Given the description of an element on the screen output the (x, y) to click on. 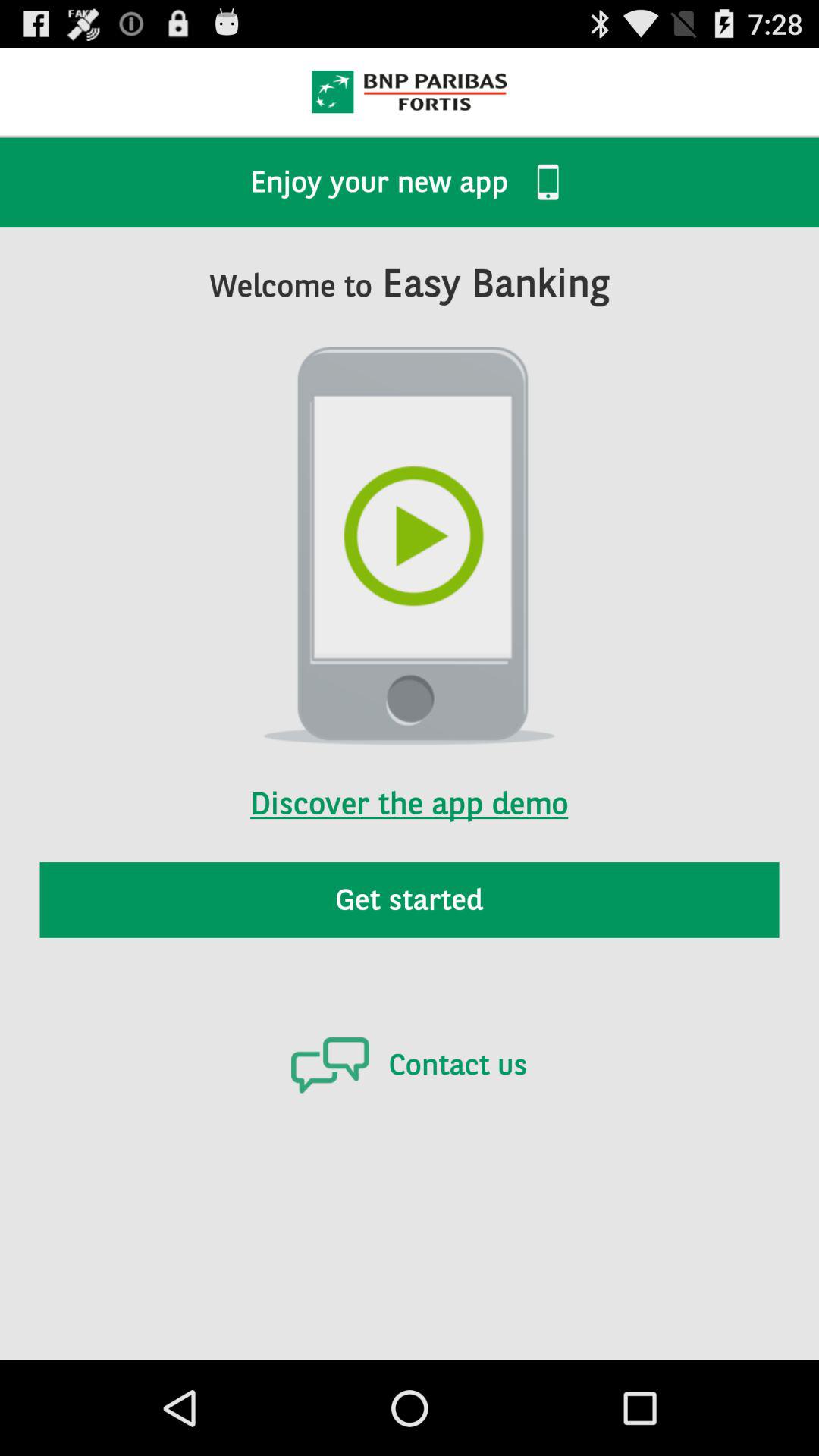
launch the icon above get started (409, 783)
